Given the description of an element on the screen output the (x, y) to click on. 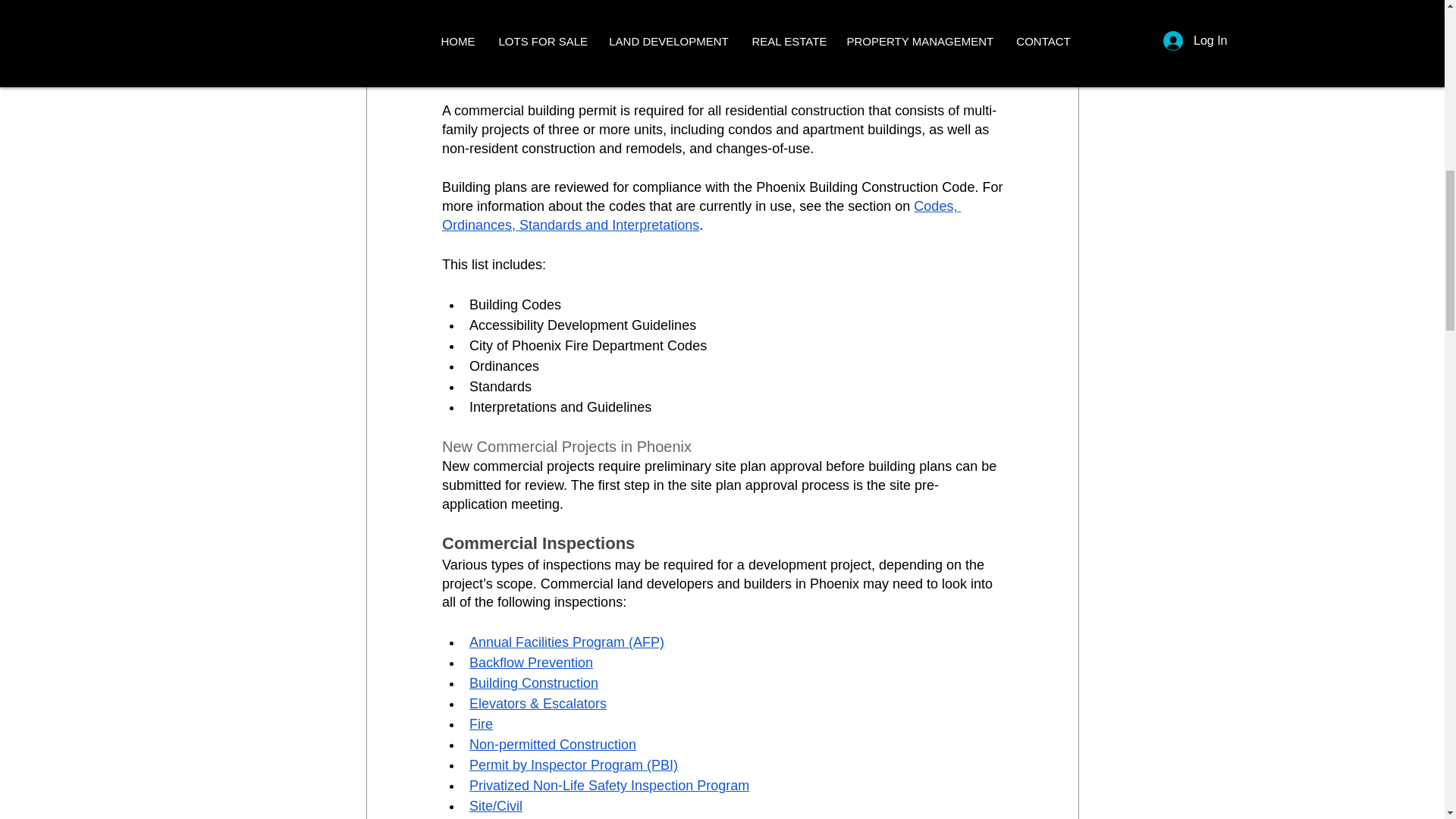
Backflow Prevention (530, 662)
Privatized Non-Life Safety Inspection Program (608, 785)
Building Construction (532, 683)
Non-permitted Construction (551, 744)
Codes, Ordinances, Standards and Interpretations (700, 215)
Phoenix (666, 52)
Fire (480, 724)
